Given the description of an element on the screen output the (x, y) to click on. 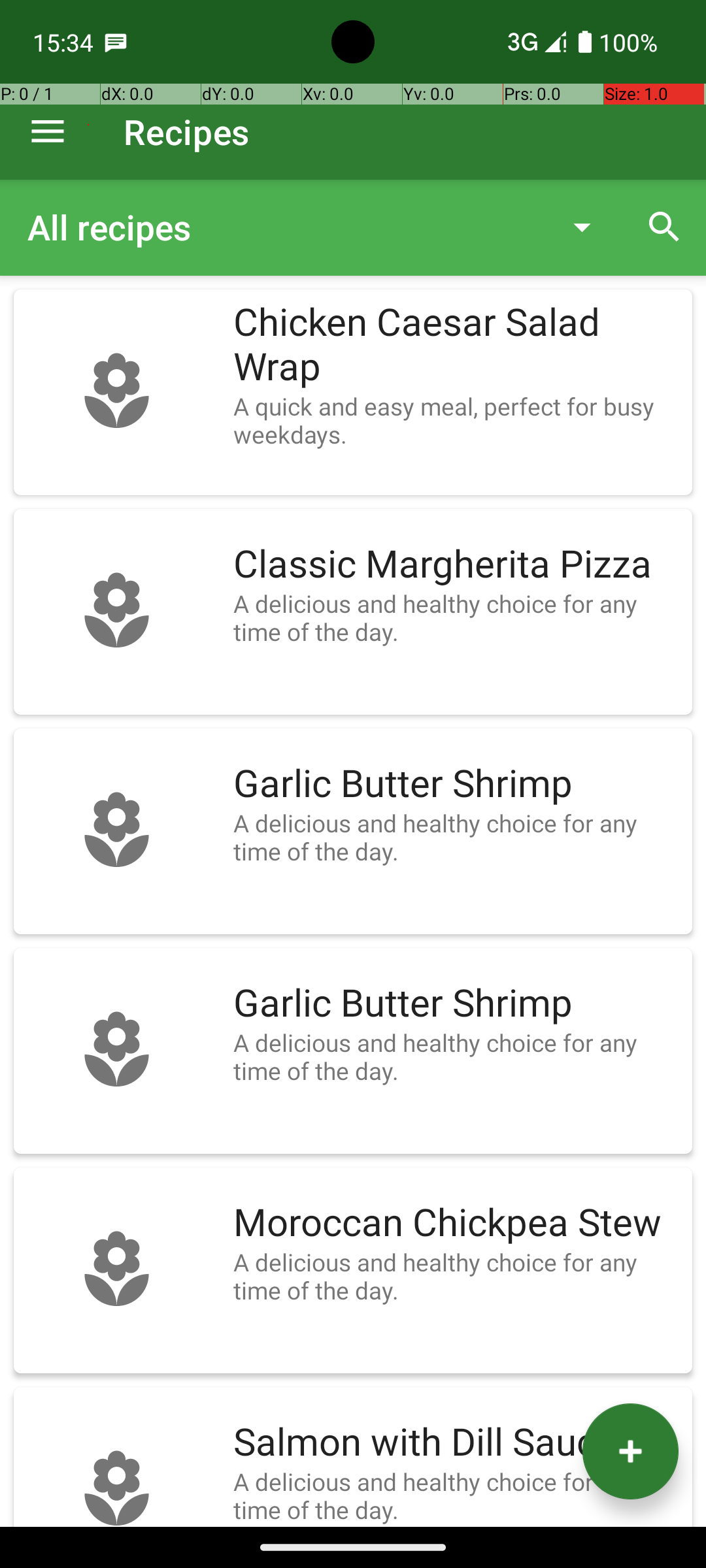
Chicken Caesar Salad Wrap Element type: android.widget.TextView (455, 344)
Garlic Butter Shrimp Element type: android.widget.TextView (455, 783)
Moroccan Chickpea Stew Element type: android.widget.TextView (455, 1222)
Salmon with Dill Sauce Element type: android.widget.TextView (455, 1442)
